Given the description of an element on the screen output the (x, y) to click on. 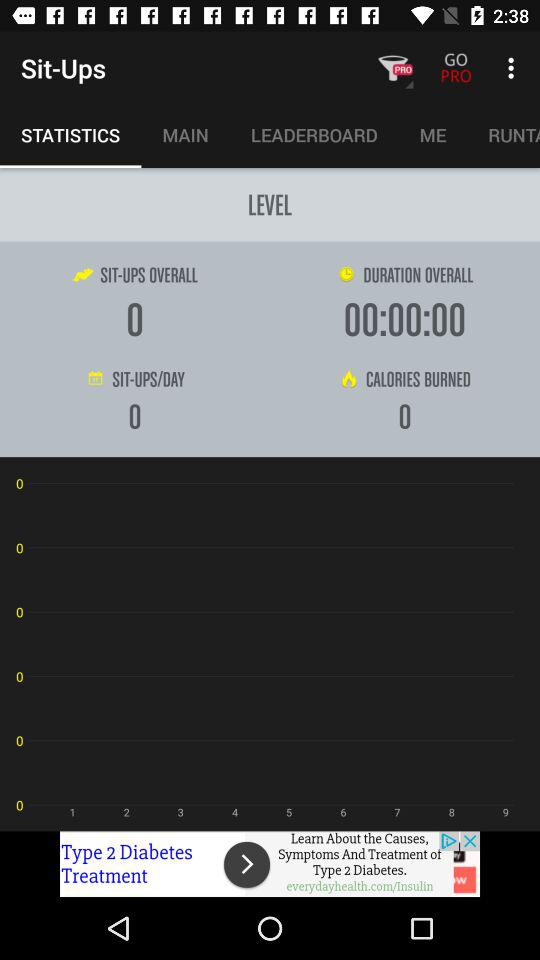
for addvertisement (270, 864)
